Given the description of an element on the screen output the (x, y) to click on. 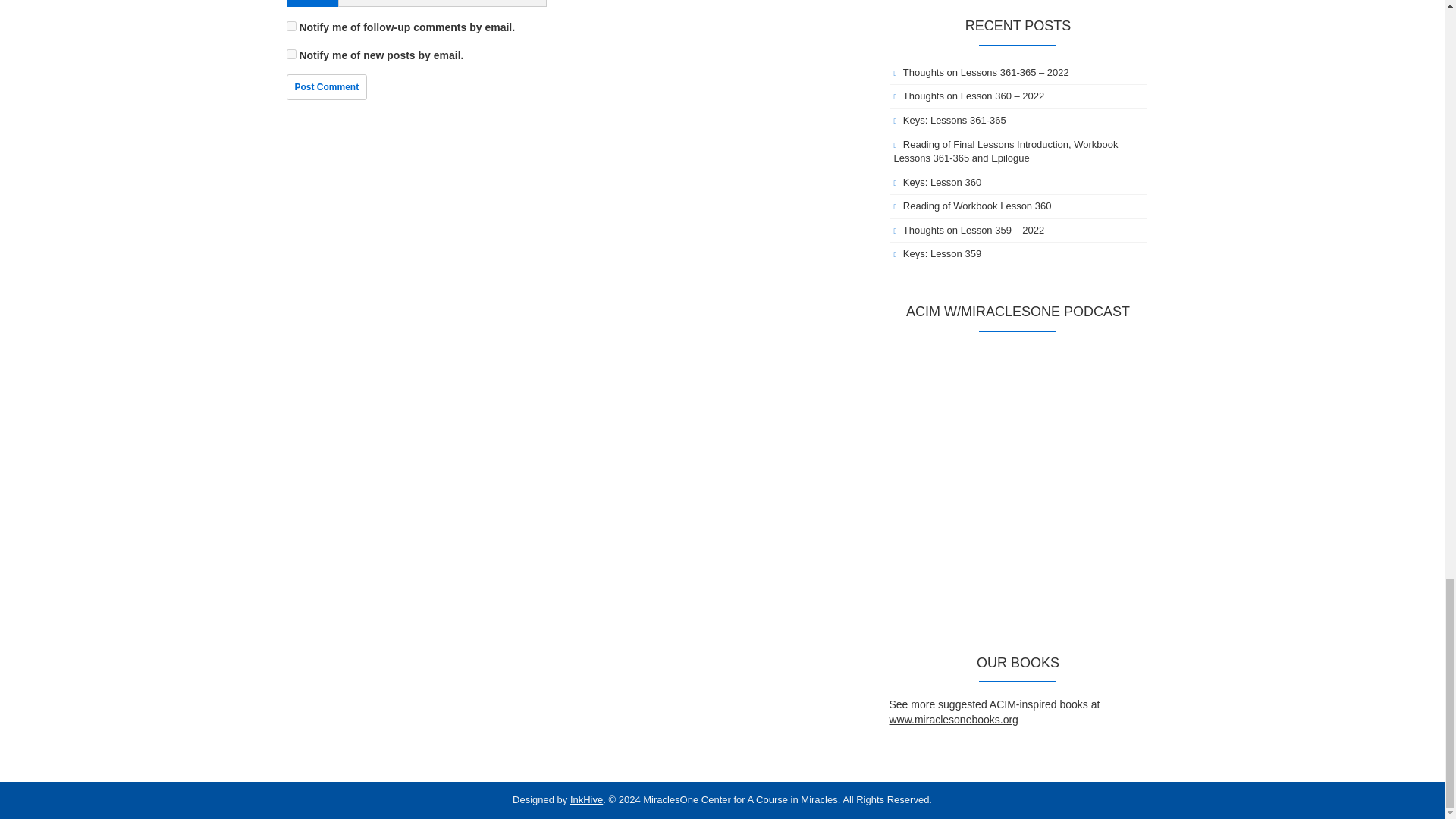
Post Comment (327, 86)
subscribe (291, 26)
subscribe (291, 53)
